Given the description of an element on the screen output the (x, y) to click on. 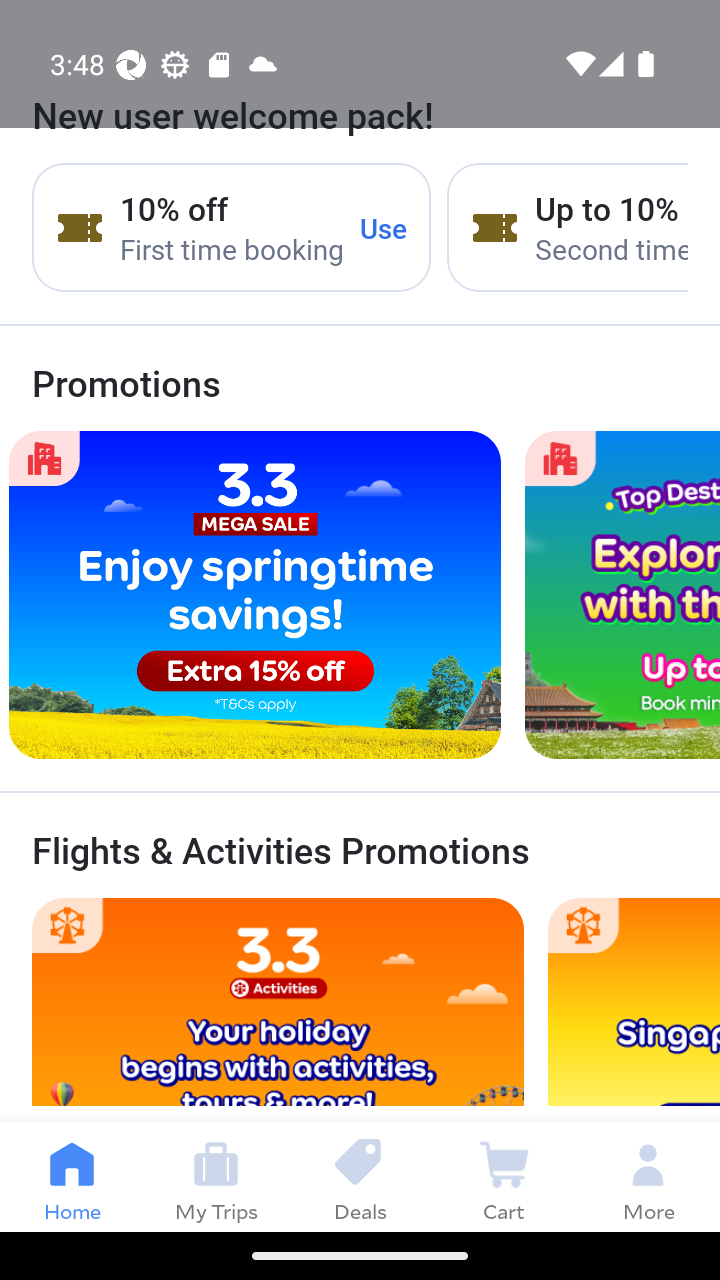
Use (384, 228)
Home (72, 1176)
My Trips (216, 1176)
Deals (360, 1176)
Cart (504, 1176)
More (648, 1176)
